Given the description of an element on the screen output the (x, y) to click on. 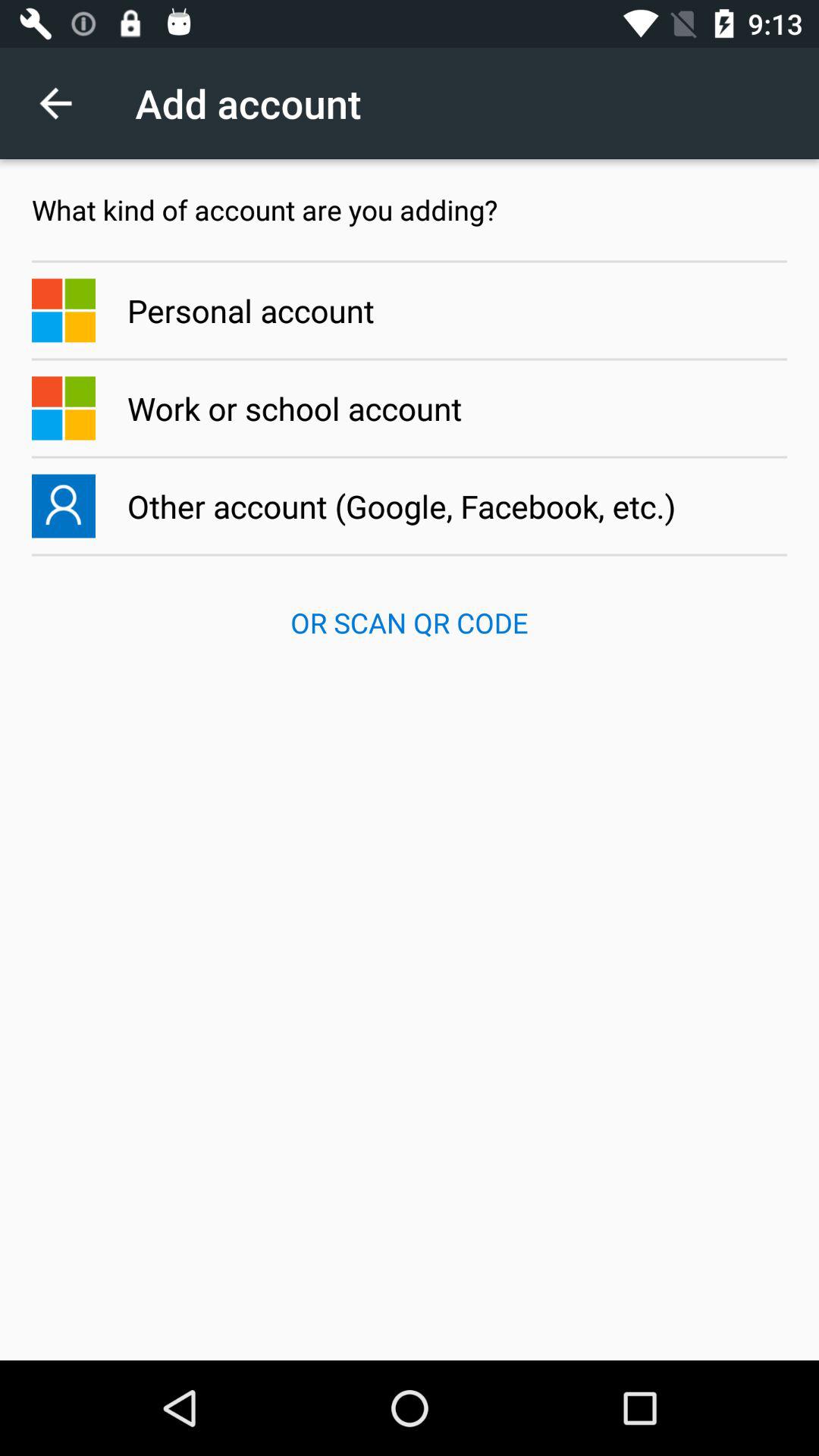
scroll until the or scan qr item (409, 622)
